Given the description of an element on the screen output the (x, y) to click on. 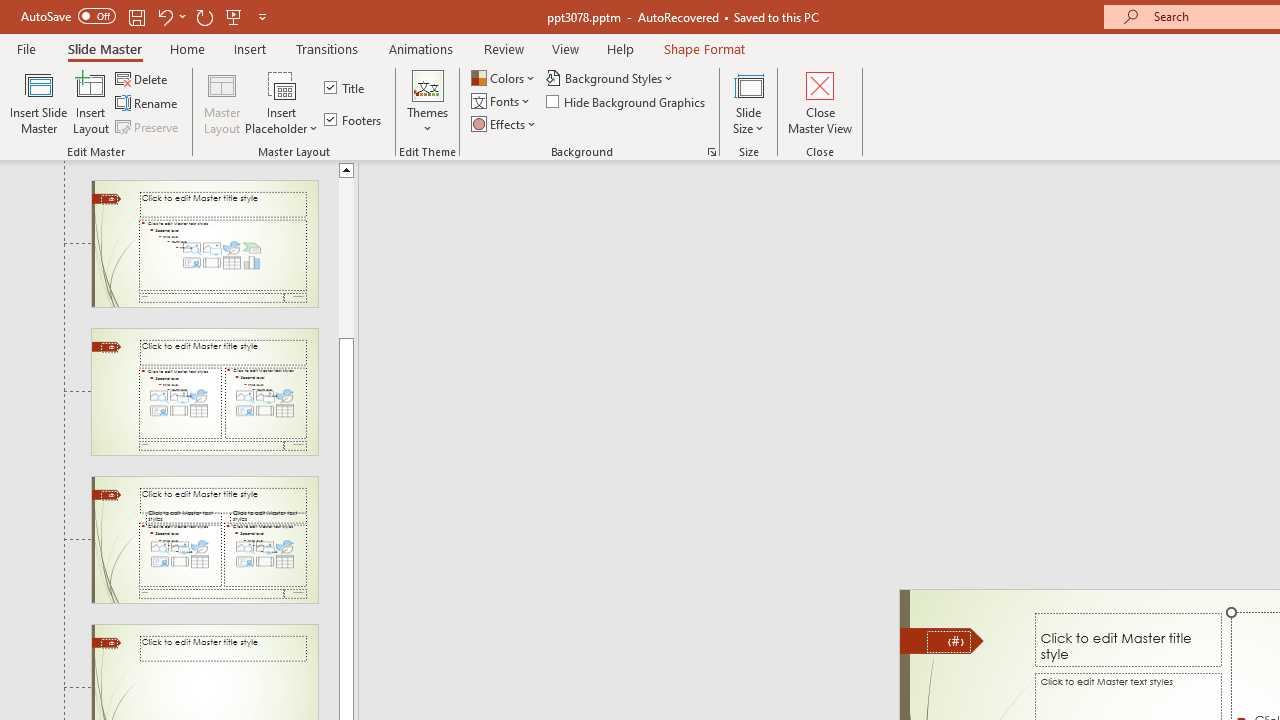
Insert Placeholder (282, 102)
Slide Master (104, 48)
Content (282, 84)
Background Styles (610, 78)
Freeform 11 (941, 640)
Slide Number (948, 641)
